Given the description of an element on the screen output the (x, y) to click on. 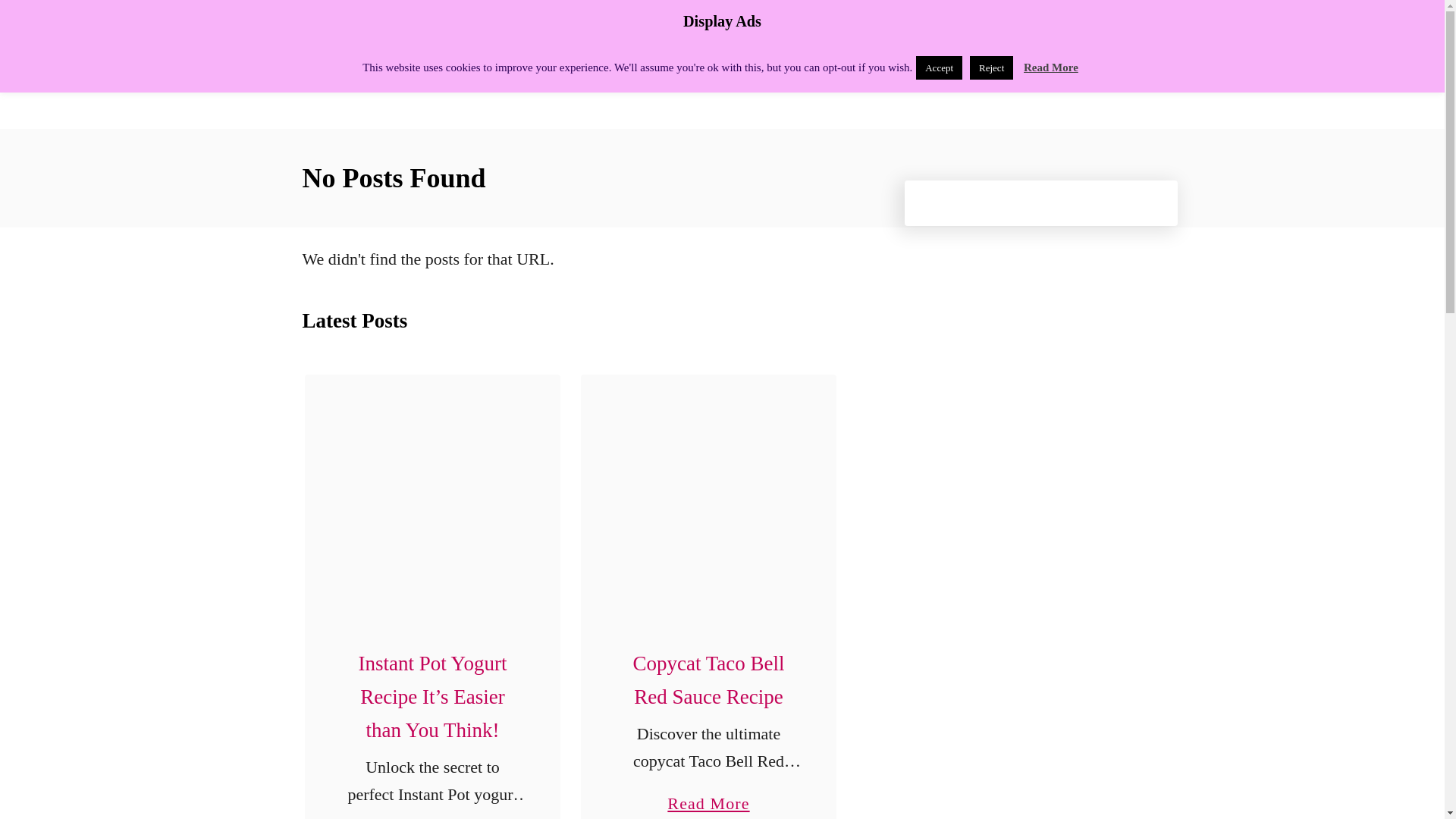
Mommy's Memorandum (433, 64)
Accept (938, 67)
Copycat Taco Bell Red Sauce Recipe (708, 502)
Reject (991, 67)
Read More (1050, 67)
Copycat Taco Bell Red Sauce Recipe (707, 679)
